Given the description of an element on the screen output the (x, y) to click on. 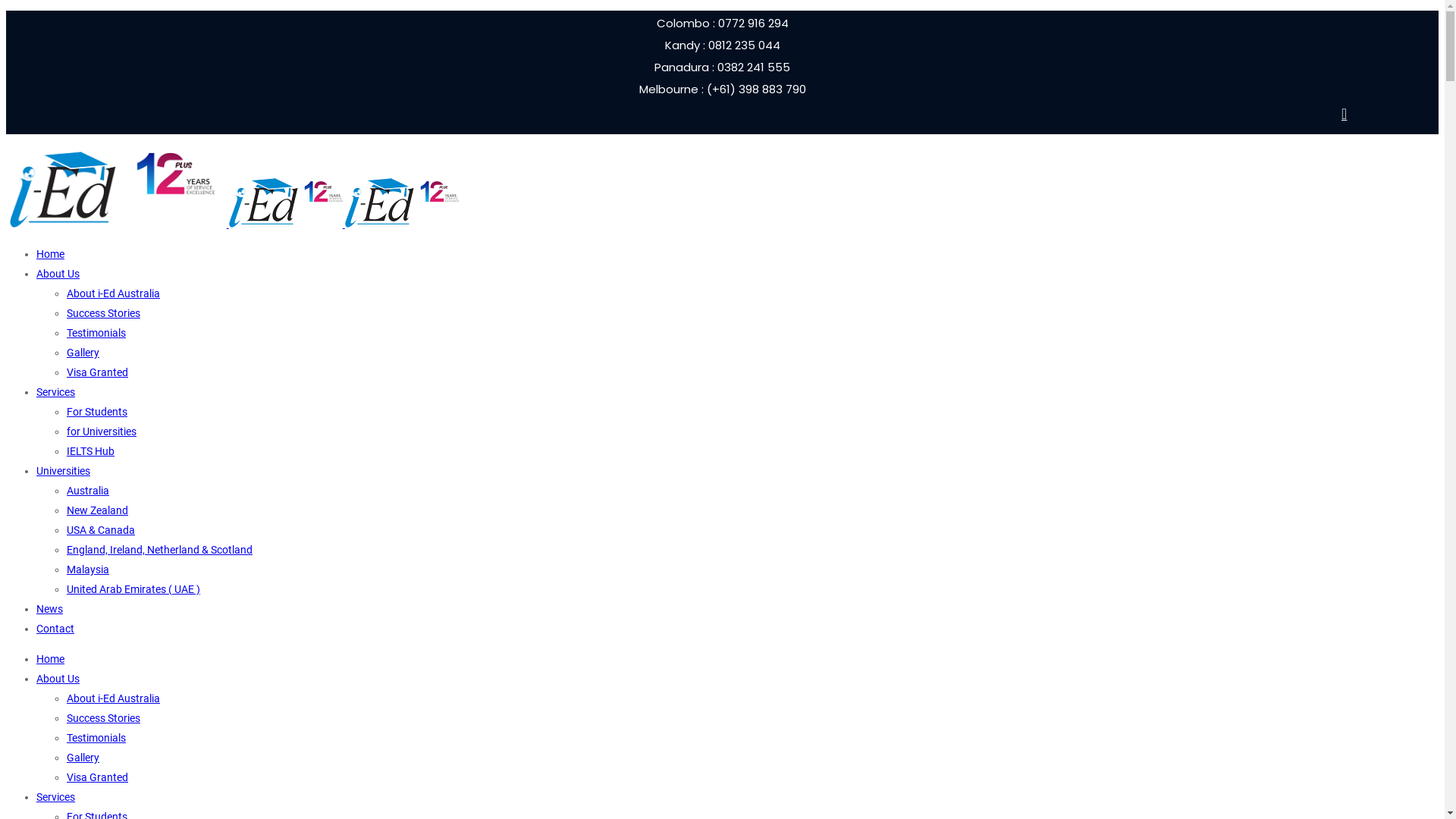
England, Ireland, Netherland & Scotland Element type: text (159, 549)
Success Stories Element type: text (103, 718)
Home Element type: text (50, 658)
IELTS Hub Element type: text (90, 451)
Testimonials Element type: text (95, 737)
About i-Ed Australia Element type: text (113, 293)
About i-Ed Australia Element type: text (113, 698)
Gallery Element type: text (82, 352)
Services Element type: text (55, 391)
Testimonials Element type: text (95, 332)
for Universities Element type: text (101, 431)
For Students Element type: text (96, 411)
United Arab Emirates ( UAE ) Element type: text (133, 589)
News Element type: text (49, 608)
Services Element type: text (55, 796)
Success Stories Element type: text (103, 313)
Universities Element type: text (63, 470)
About Us Element type: text (57, 678)
Gallery Element type: text (82, 757)
Australia Element type: text (87, 490)
Home Element type: text (50, 253)
USA & Canada Element type: text (100, 530)
Visa Granted Element type: text (97, 777)
New Zealand Element type: text (97, 510)
Contact Element type: text (55, 628)
Malaysia Element type: text (87, 569)
Visa Granted Element type: text (97, 372)
About Us Element type: text (57, 273)
